Given the description of an element on the screen output the (x, y) to click on. 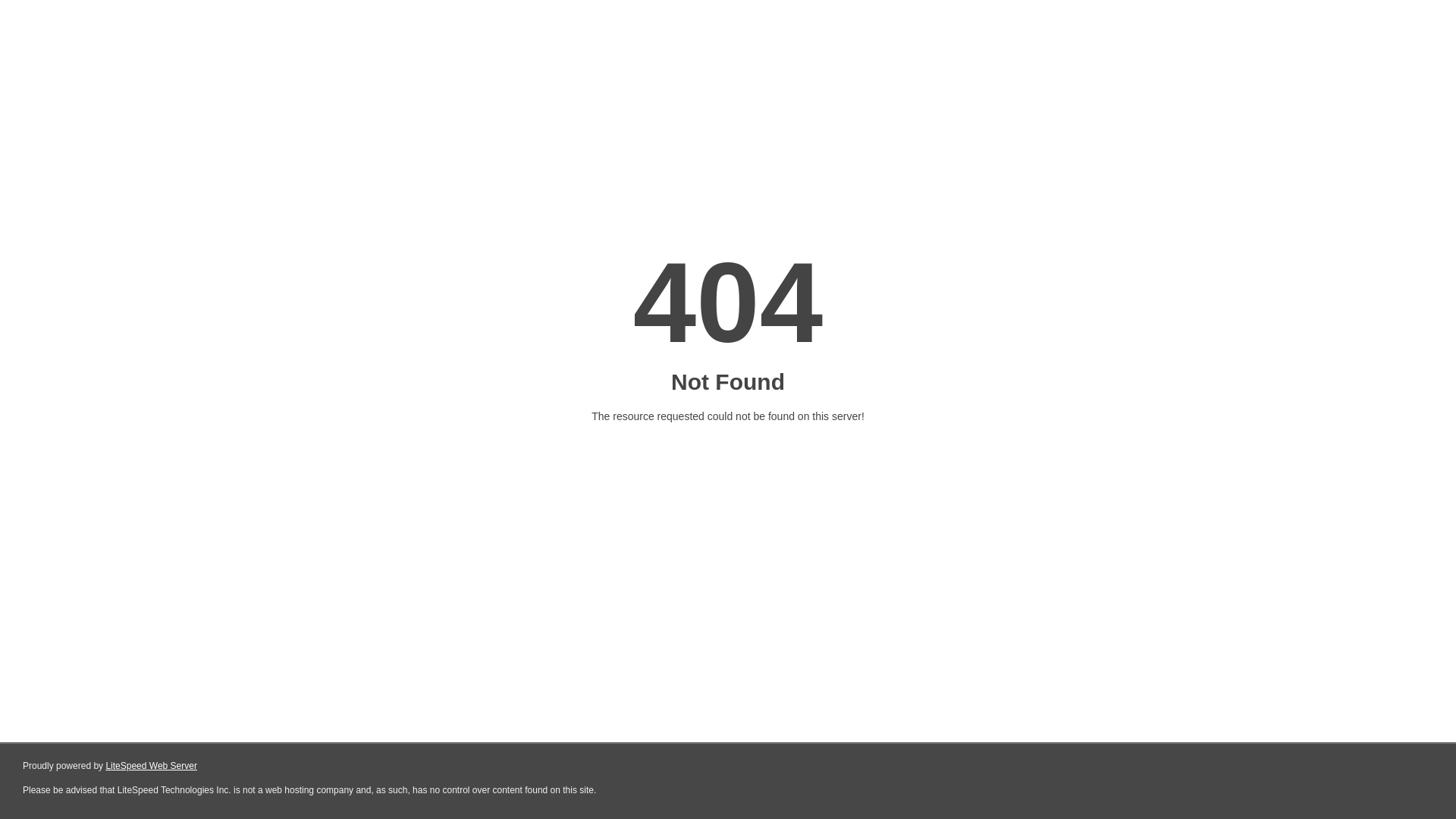
LiteSpeed Web Server Element type: text (151, 765)
